Given the description of an element on the screen output the (x, y) to click on. 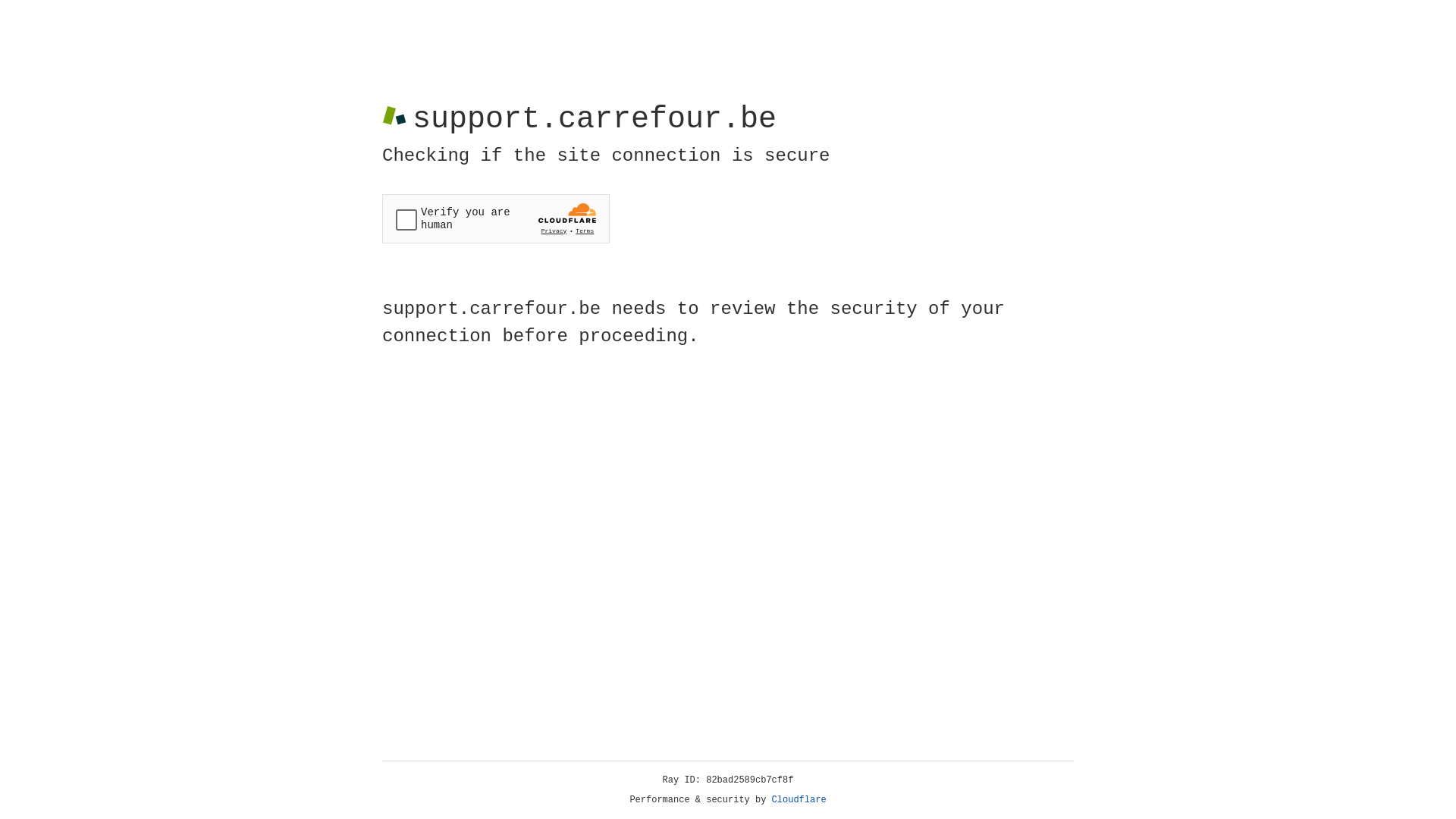
Widget containing a Cloudflare security challenge Element type: hover (495, 218)
Cloudflare Element type: text (798, 799)
